Given the description of an element on the screen output the (x, y) to click on. 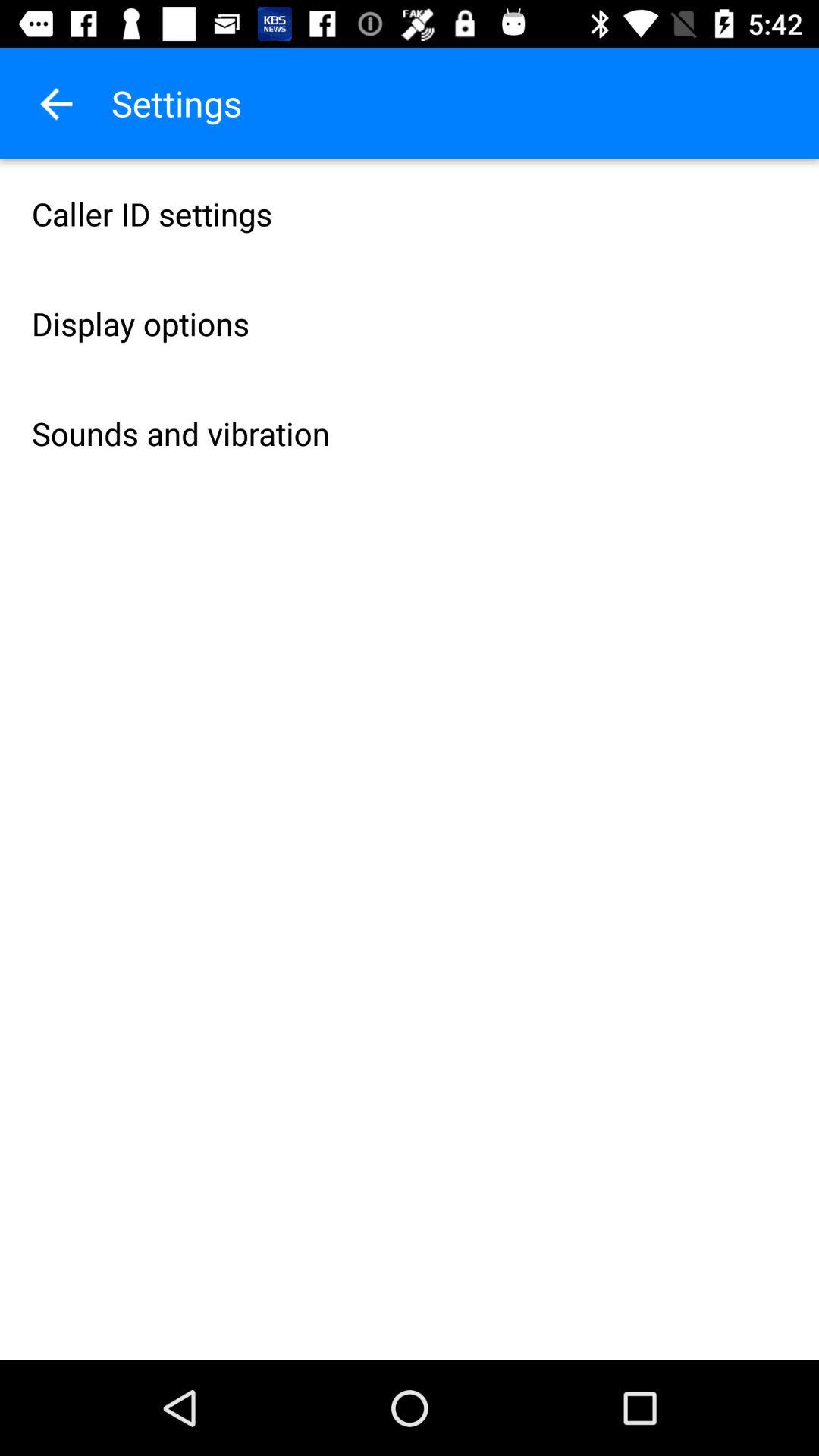
press the icon above display options item (409, 214)
